Given the description of an element on the screen output the (x, y) to click on. 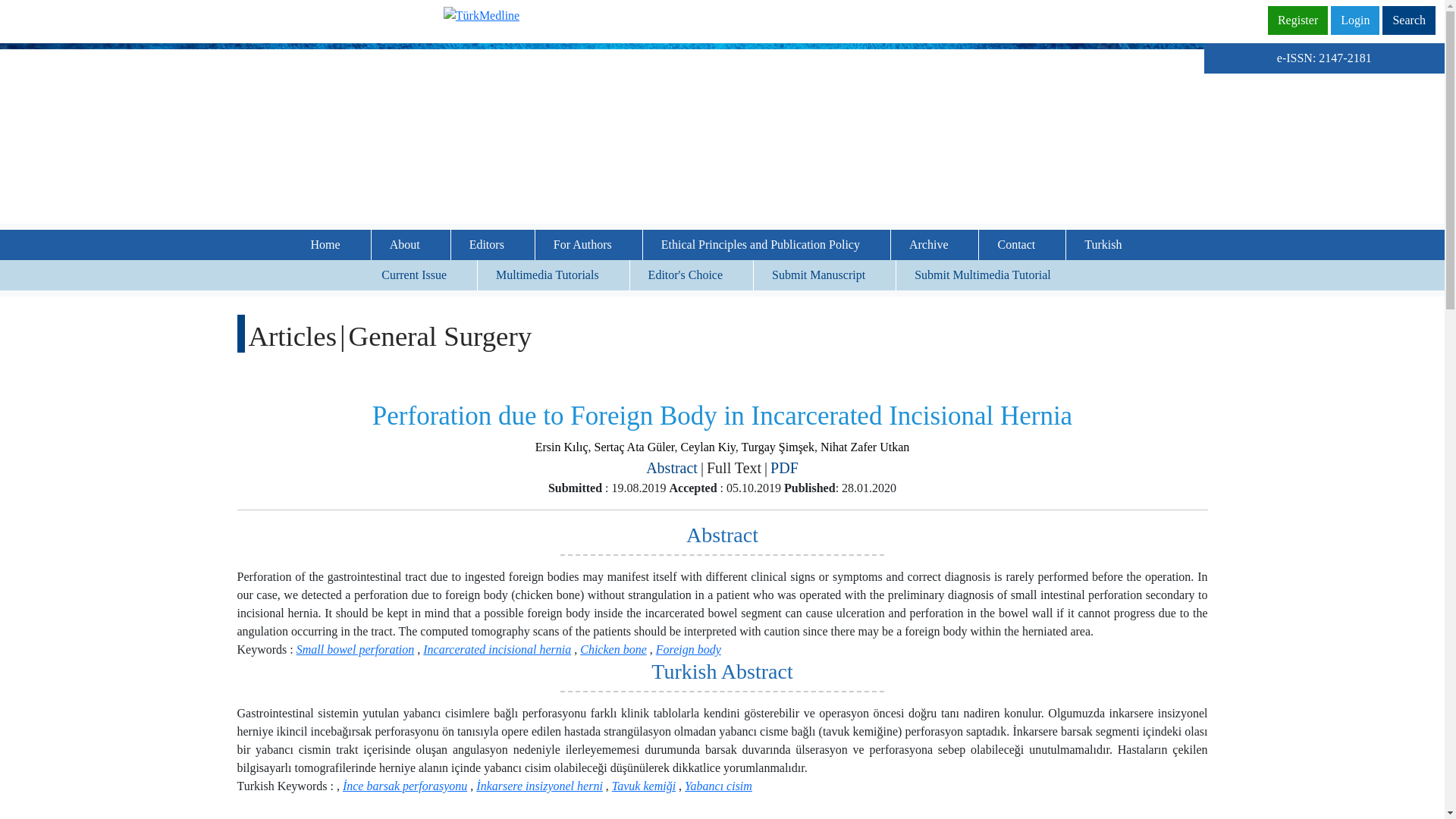
Small bowel perforation (355, 649)
Submit Multimedia Tutorial (988, 275)
Ceylan Kiy (708, 446)
Nihat Zafer Utkan (864, 446)
Editors (492, 245)
Full Text (733, 467)
Ethical Principles and Publication Policy (766, 245)
Search (1408, 20)
Chicken bone (612, 649)
Foreign body (688, 649)
